Given the description of an element on the screen output the (x, y) to click on. 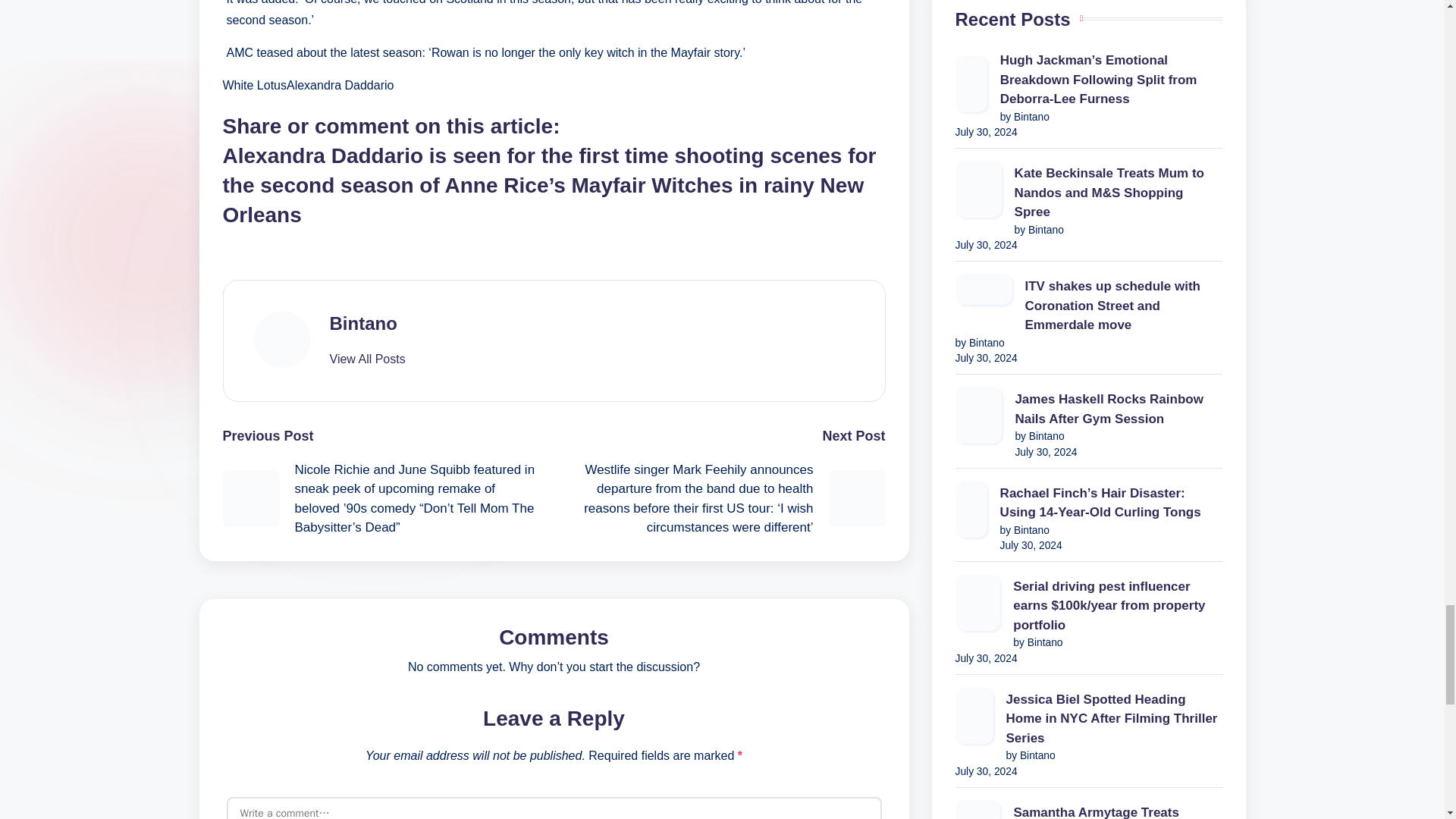
View All Posts (366, 359)
Bintano (362, 322)
